Given the description of an element on the screen output the (x, y) to click on. 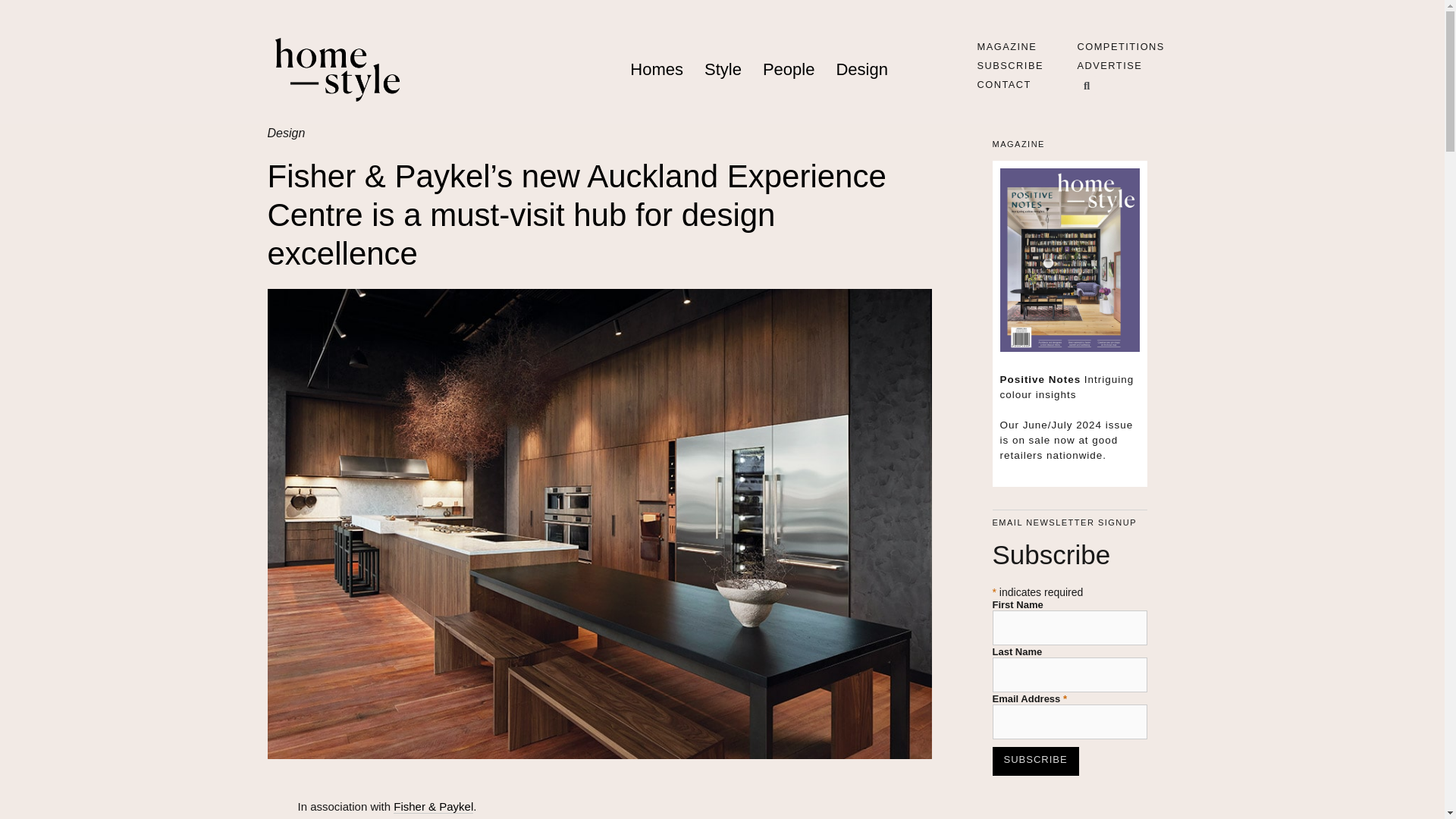
Subscribe (1034, 760)
SUBSCRIBE (1009, 65)
CONTACT (1003, 84)
COMPETITIONS (1120, 46)
MAGAZINE (1006, 46)
Homes (657, 69)
ADVERTISE (1109, 65)
Subscribe (1034, 760)
Design (285, 132)
Style (723, 69)
Design (861, 69)
People (788, 69)
